Given the description of an element on the screen output the (x, y) to click on. 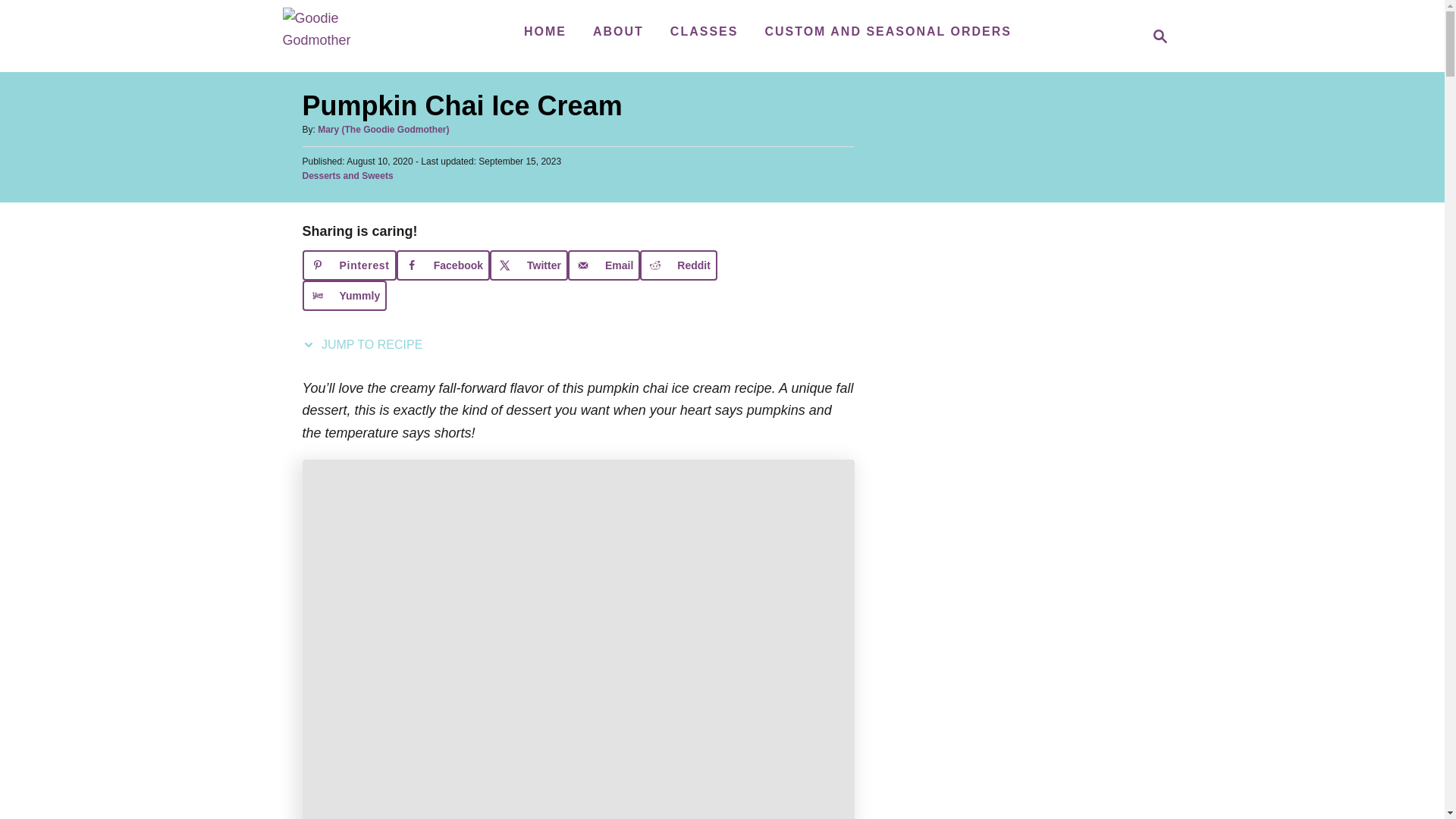
Twitter (528, 265)
HOME (544, 31)
Share on X (1155, 36)
Reddit (528, 265)
Share on Reddit (678, 265)
JUMP TO RECIPE (678, 265)
Yummly (365, 344)
Send over email (344, 295)
Share on Facebook (603, 265)
